Given the description of an element on the screen output the (x, y) to click on. 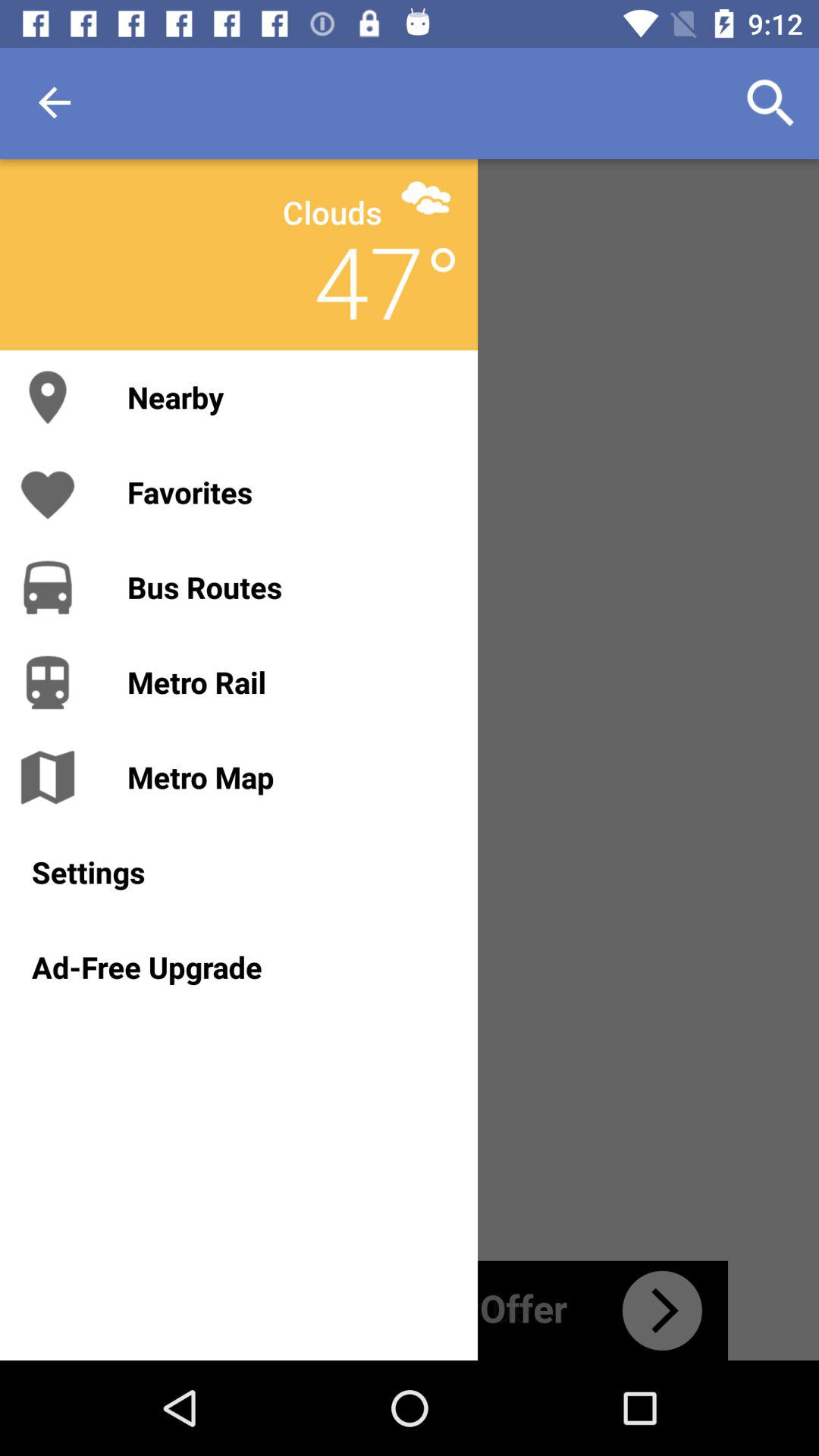
turn on icon next to clouds icon (425, 197)
